Given the description of an element on the screen output the (x, y) to click on. 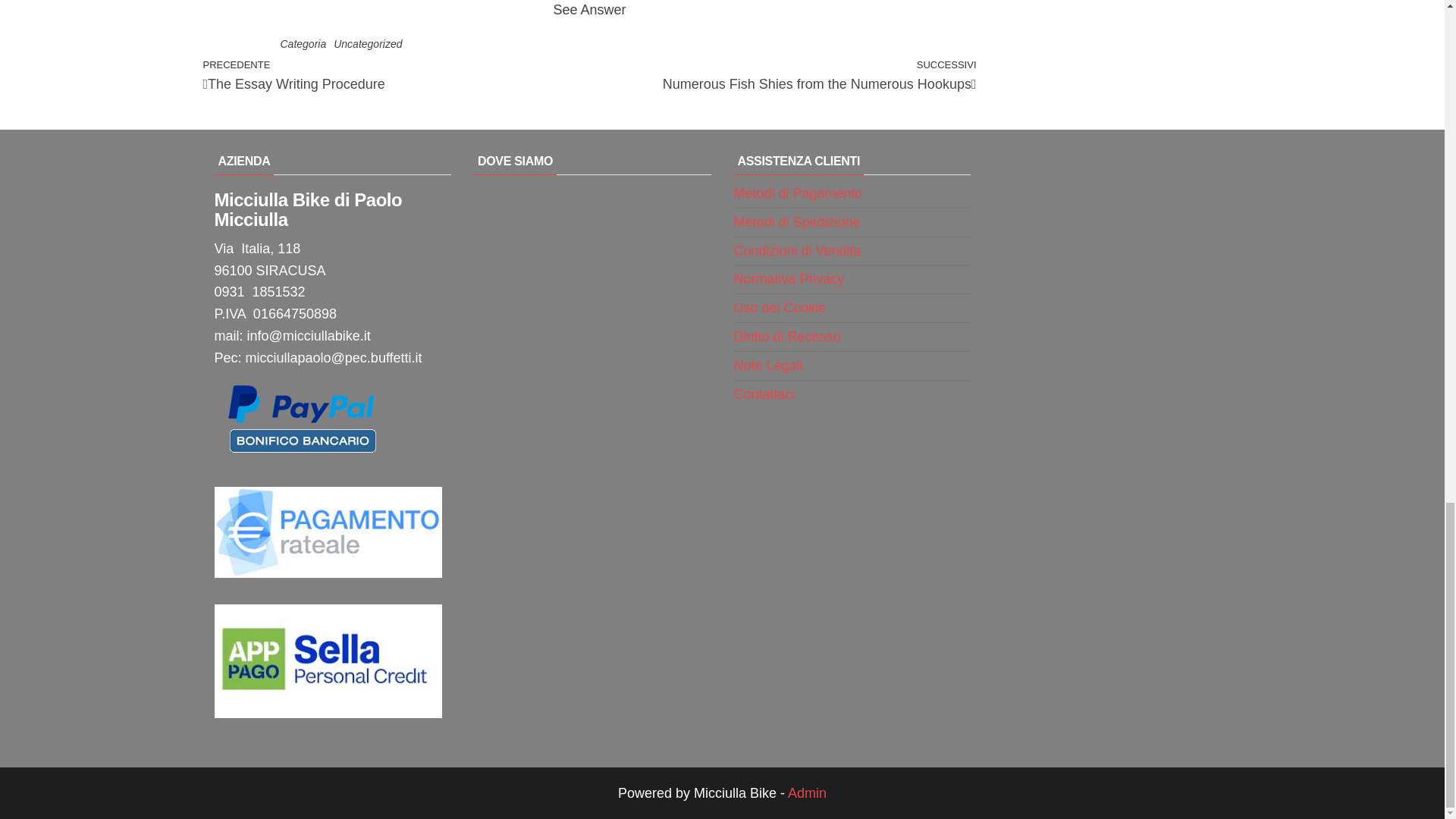
Uncategorized (367, 43)
